Given the description of an element on the screen output the (x, y) to click on. 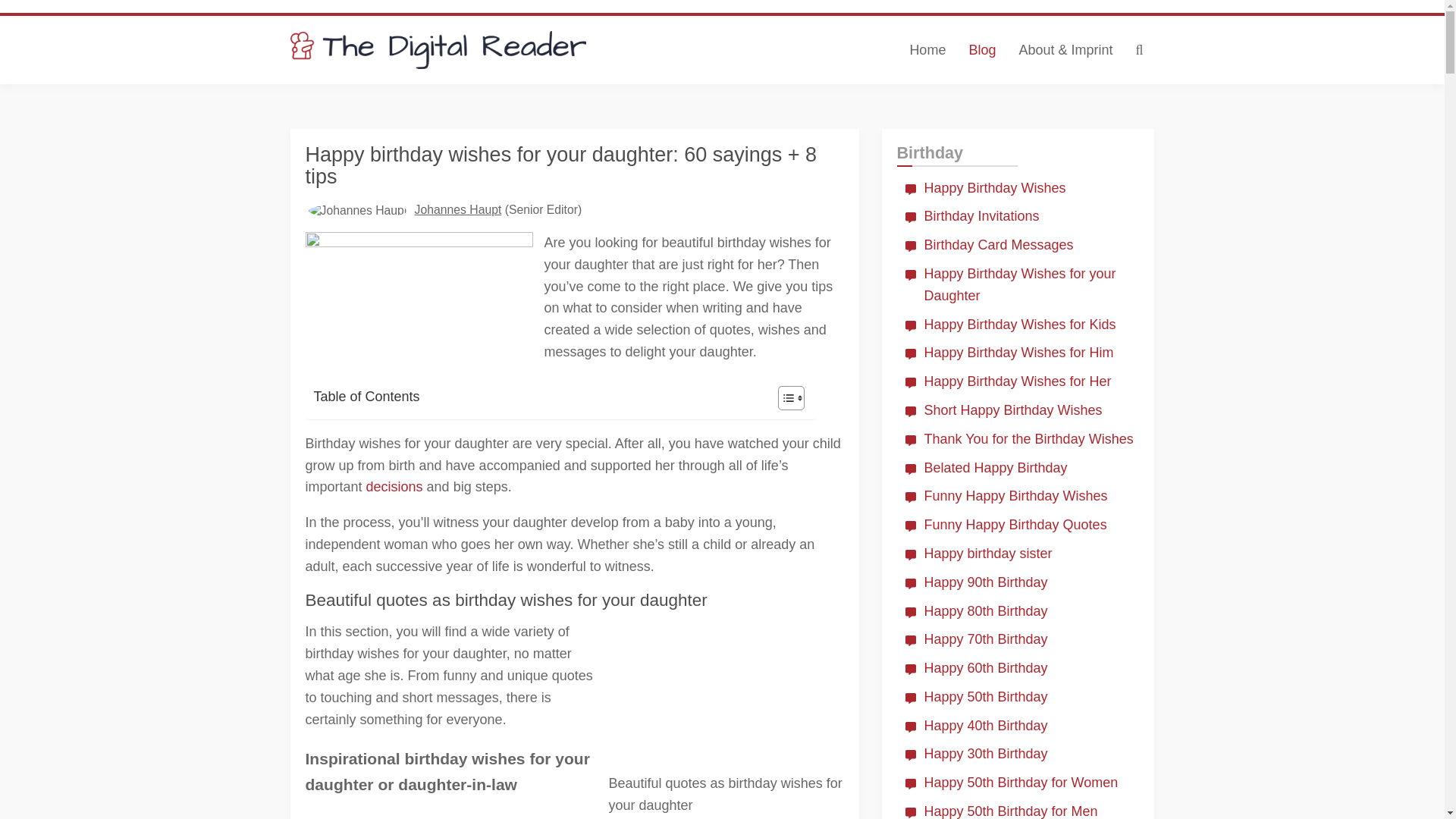
decisions (394, 486)
Blog (981, 49)
Johannes Haupt (458, 209)
The Digital Reader (437, 49)
Home (927, 49)
